Given the description of an element on the screen output the (x, y) to click on. 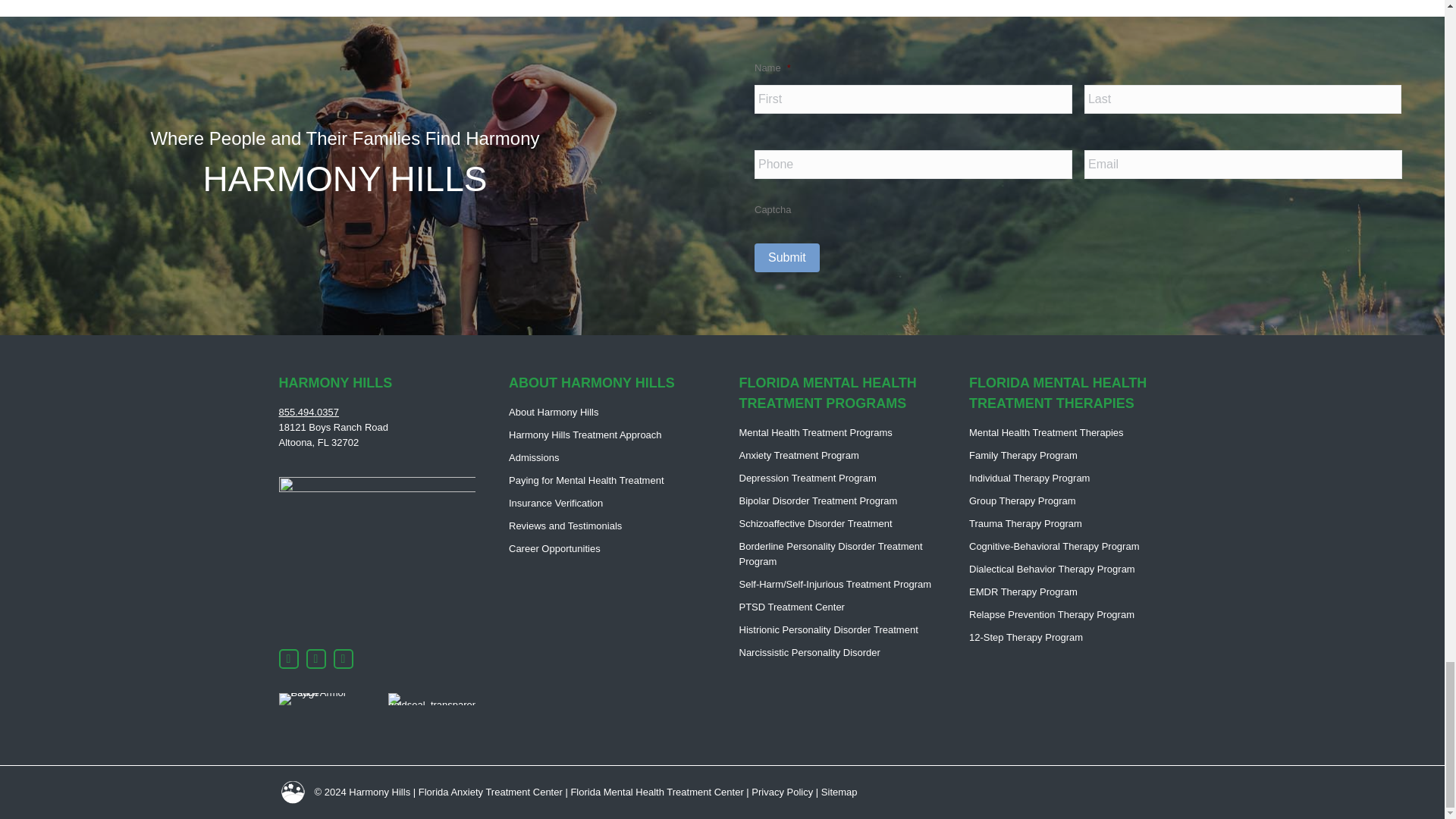
Submit (786, 257)
